Given the description of an element on the screen output the (x, y) to click on. 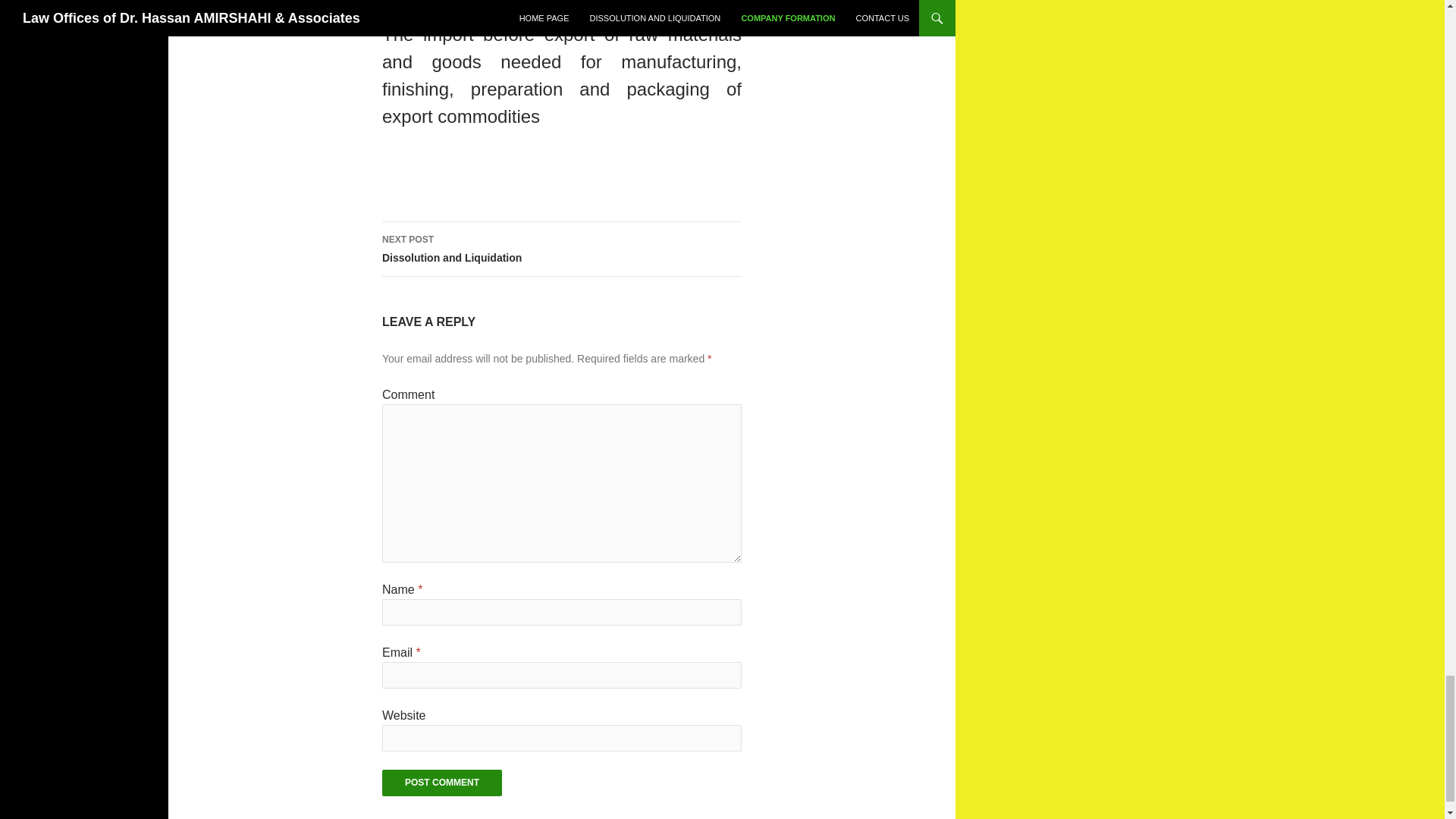
Post Comment (441, 782)
Post Comment (561, 248)
